Given the description of an element on the screen output the (x, y) to click on. 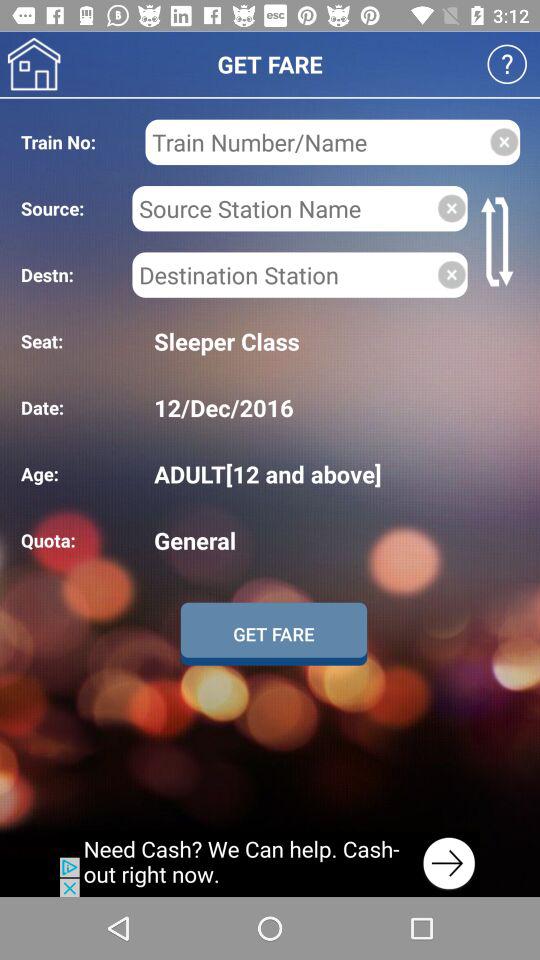
click close option (451, 274)
